Given the description of an element on the screen output the (x, y) to click on. 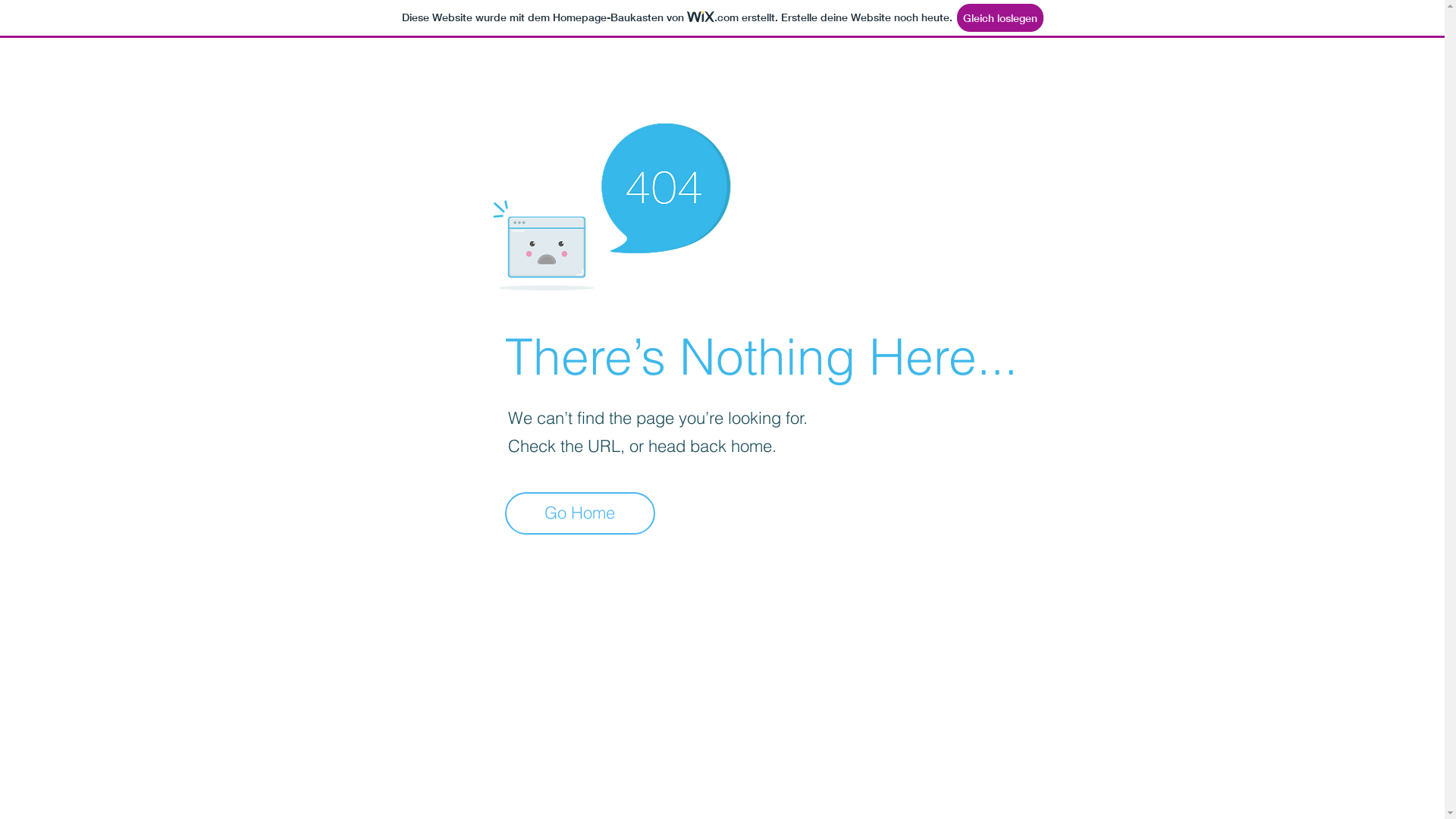
404-icon_2.png Element type: hover (610, 202)
Go Home Element type: text (580, 513)
